Given the description of an element on the screen output the (x, y) to click on. 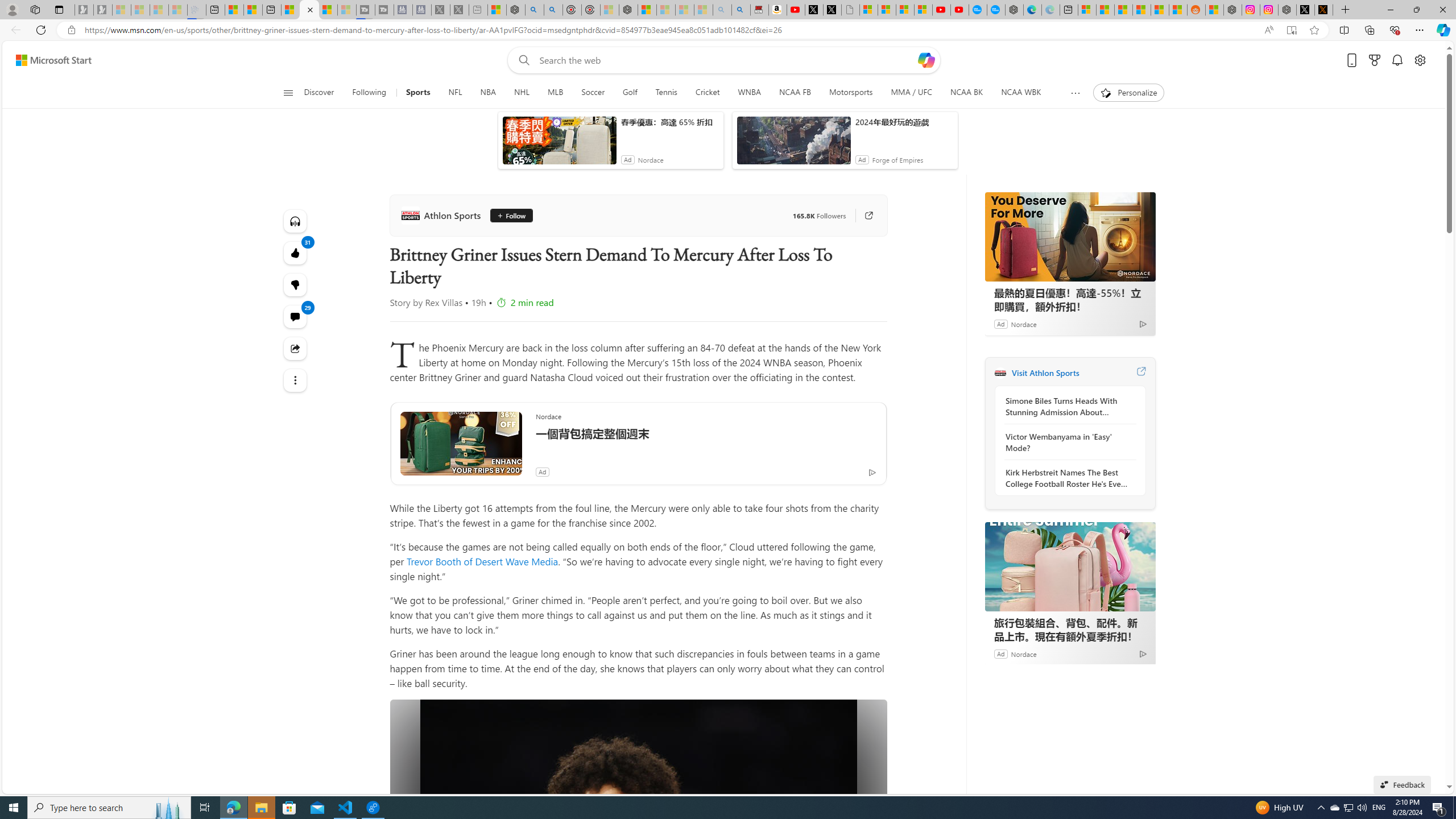
X - Sleeping (459, 9)
WNBA (749, 92)
App bar (728, 29)
Follow (510, 215)
Nordace - Nordace Siena Is Not An Ordinary Backpack (628, 9)
NCAA BK (965, 92)
Nordace (1023, 653)
Feedback (1402, 784)
Tennis (666, 92)
Skip to footer (46, 59)
